Given the description of an element on the screen output the (x, y) to click on. 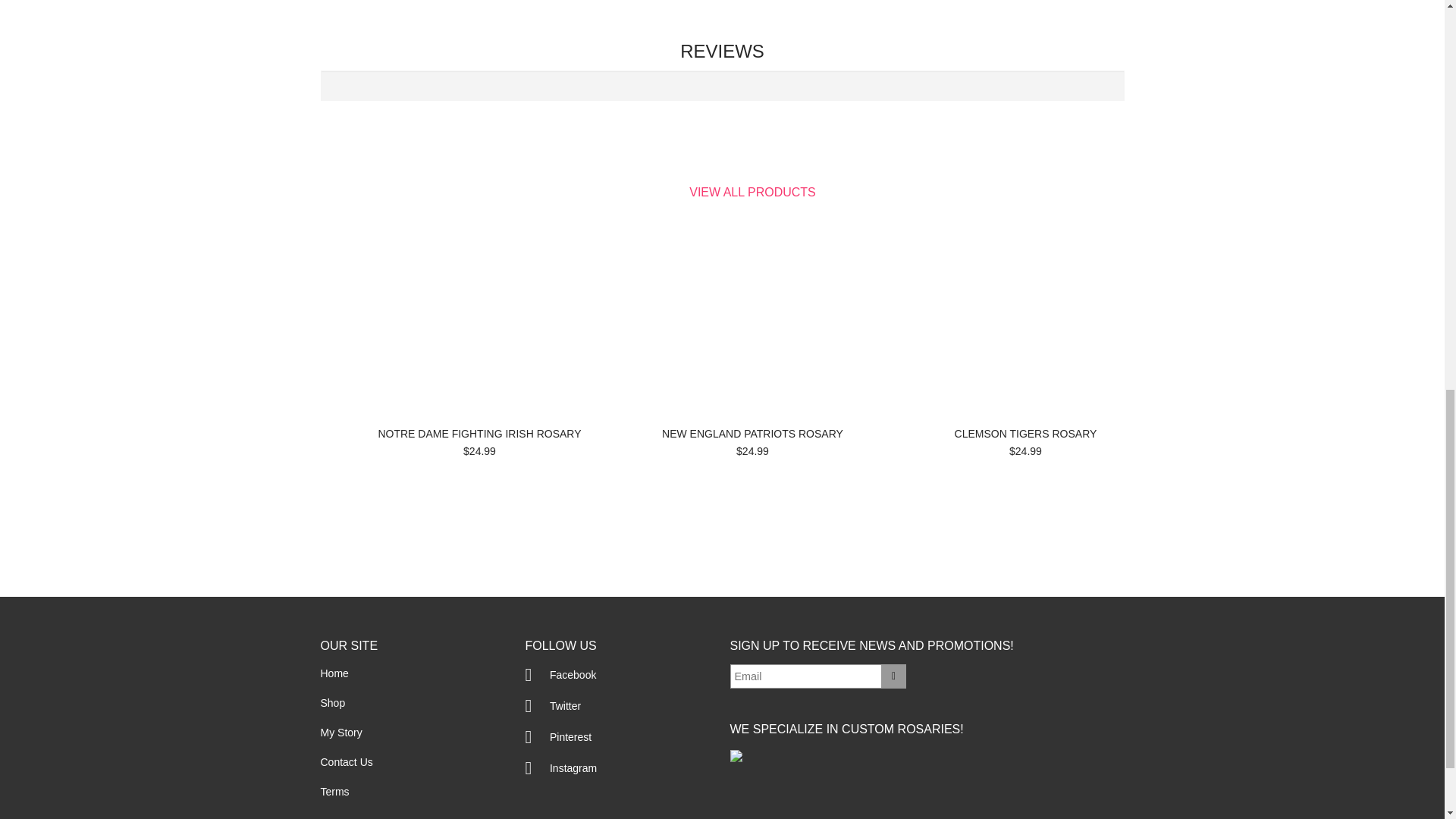
VIEW ALL PRODUCTS (751, 192)
